Given the description of an element on the screen output the (x, y) to click on. 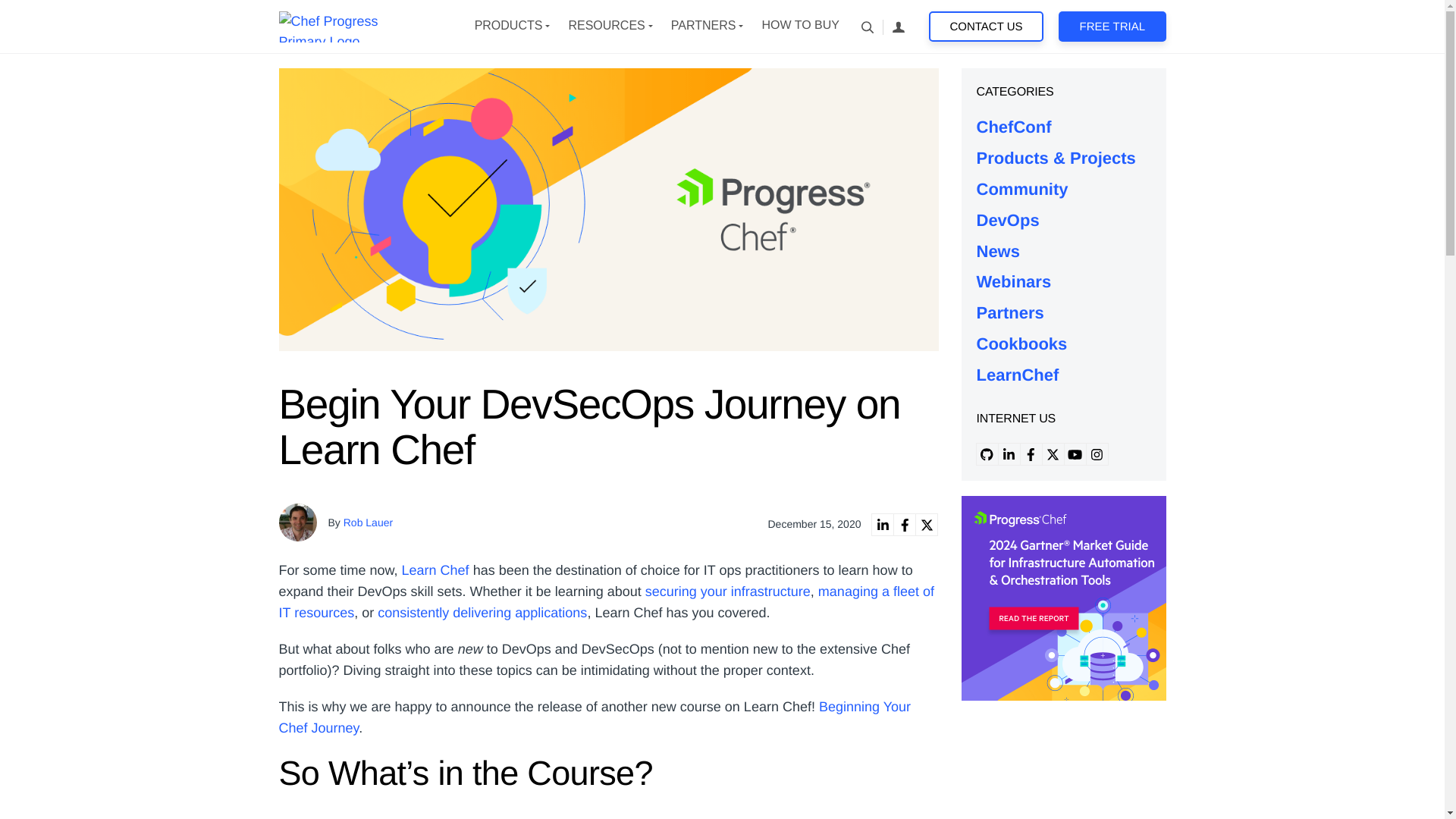
PRODUCTS (508, 25)
PARTNERS (703, 25)
Rob Lauer (298, 522)
HOW TO BUY (799, 25)
SKIP NAVIGATION (352, 26)
Rob Lauer (368, 522)
RESOURCES (606, 25)
CONTACT US (985, 26)
